Given the description of an element on the screen output the (x, y) to click on. 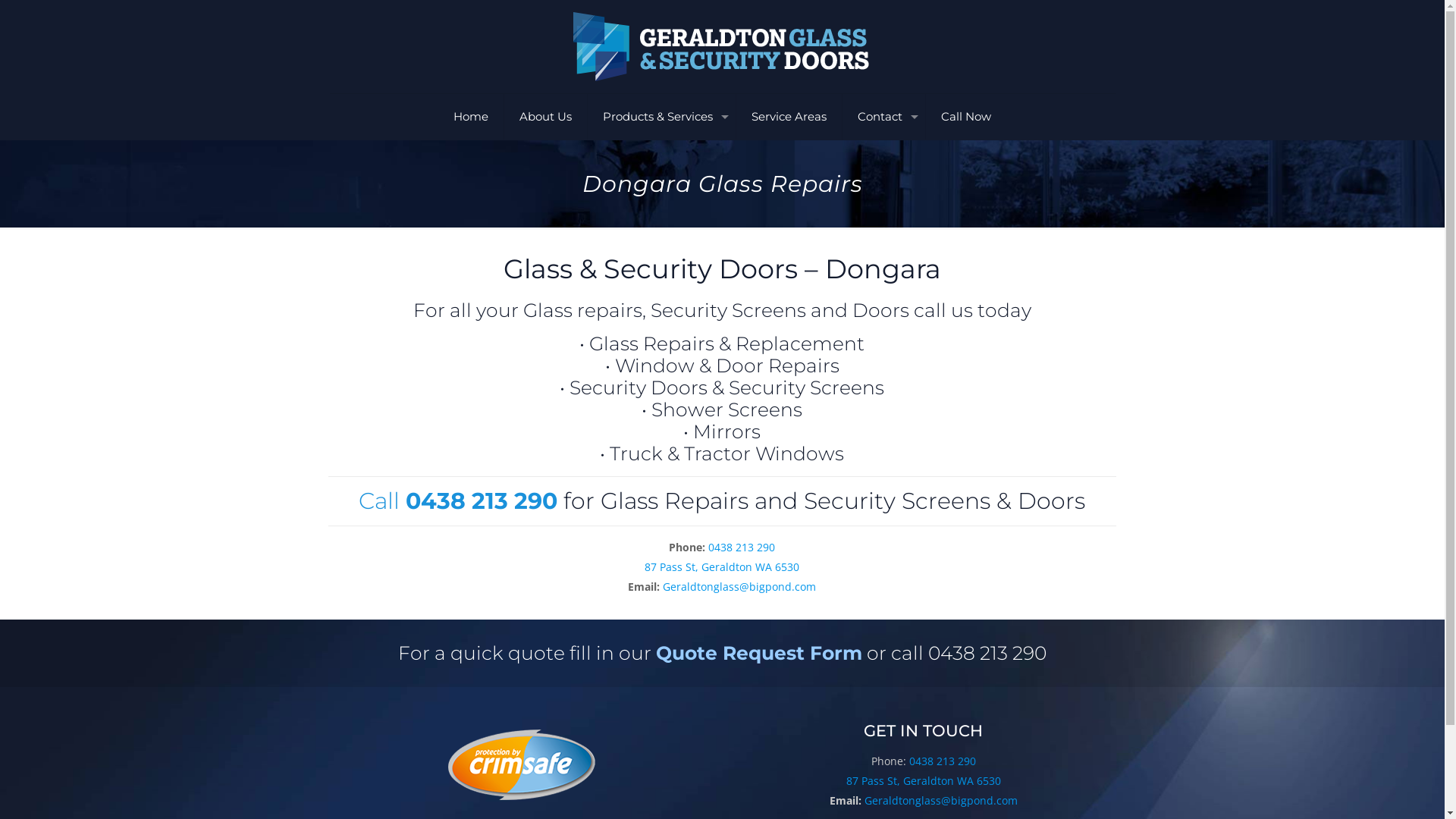
Call Now Element type: text (965, 116)
Quote Request Form Element type: text (758, 652)
Geraldtonglass@bigpond.com Element type: text (738, 586)
Contact Element type: text (883, 116)
Service Areas Element type: text (789, 116)
0438 213 290 Element type: text (741, 546)
Geraldton Glass & Security Doors Element type: hover (721, 46)
About Us Element type: text (545, 116)
87 Pass St, Geraldton WA 6530 Element type: text (923, 780)
Geraldtonglass@bigpond.com Element type: text (940, 800)
Home Element type: text (471, 116)
0438 213 290 Element type: text (941, 760)
Products & Services Element type: text (661, 116)
87 Pass St, Geraldton WA 6530 Element type: text (721, 566)
